Given the description of an element on the screen output the (x, y) to click on. 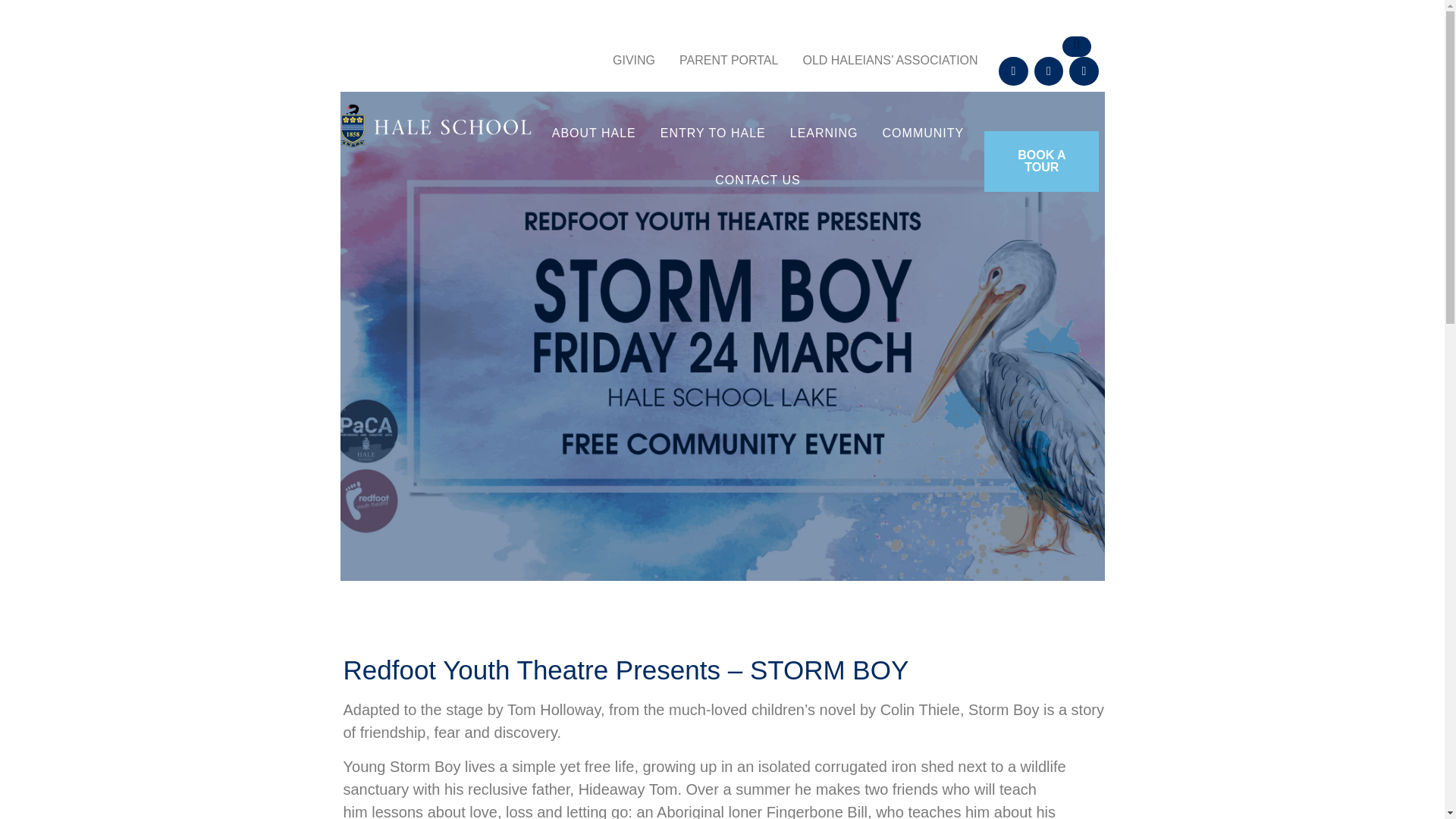
PARENT PORTAL (728, 60)
GIVING (632, 60)
ENTRY TO HALE (712, 133)
ABOUT HALE (593, 133)
